Given the description of an element on the screen output the (x, y) to click on. 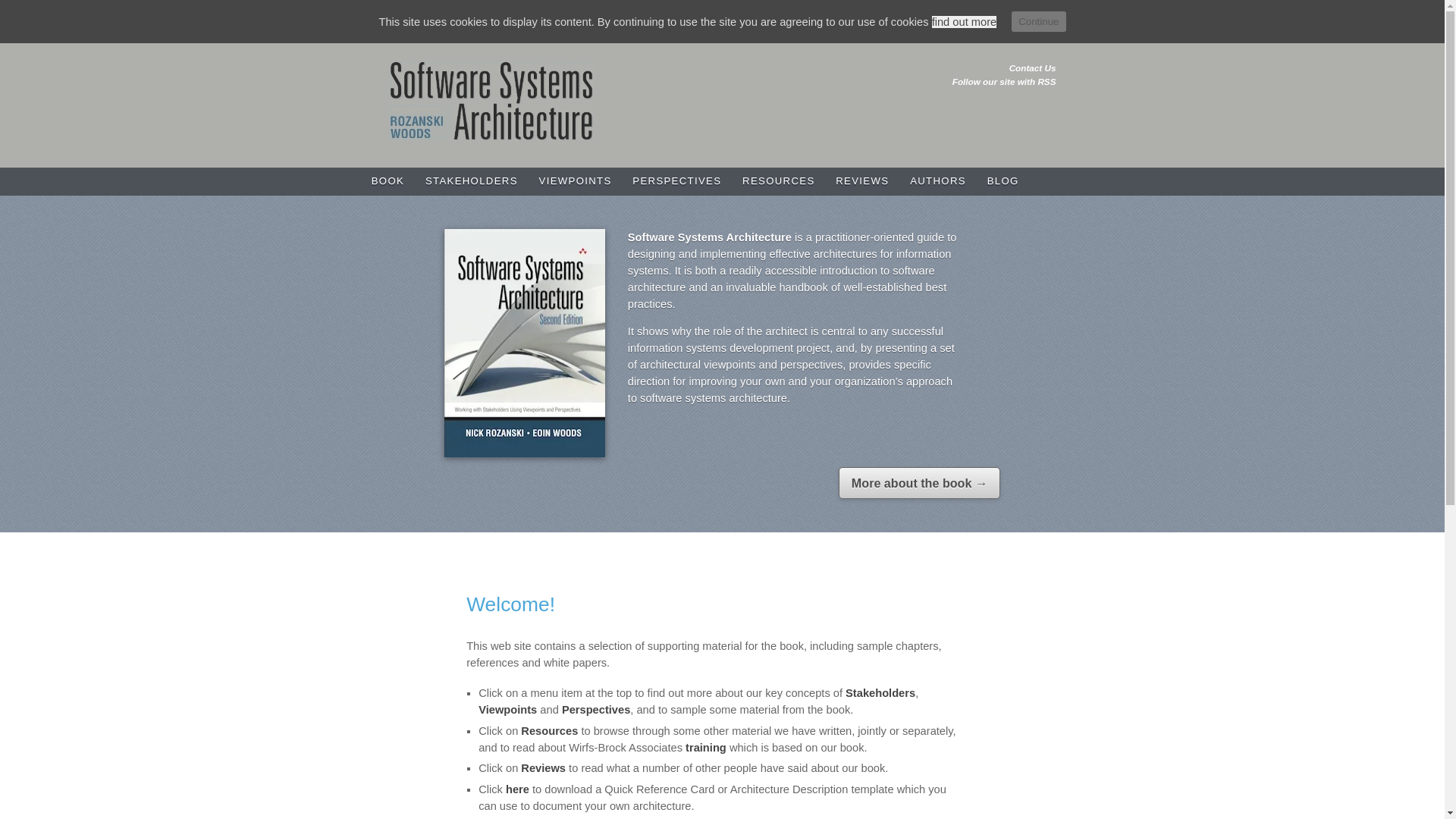
Contact Us (1033, 67)
BOOK (387, 181)
VIEWPOINTS (575, 181)
Authors (937, 181)
AUTHORS (937, 181)
Contact Us (1033, 67)
find out more (964, 21)
training (705, 747)
Follow our site with RSS (1004, 81)
BLOG (1002, 181)
Stakeholders (880, 693)
Reviews (862, 181)
Book (387, 181)
RESOURCES (778, 181)
REVIEWS (862, 181)
